Given the description of an element on the screen output the (x, y) to click on. 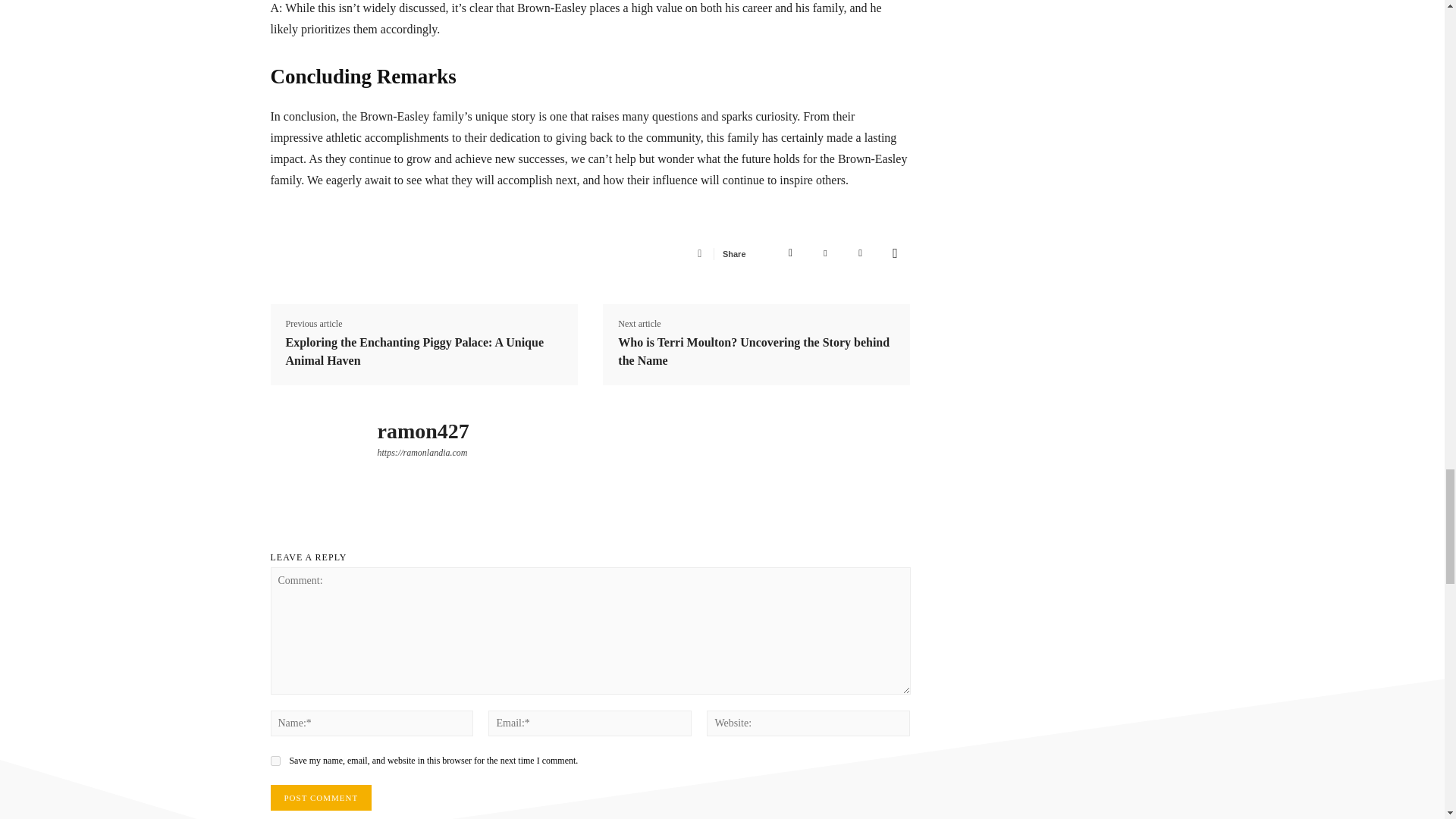
Post Comment (320, 797)
yes (274, 760)
